Given the description of an element on the screen output the (x, y) to click on. 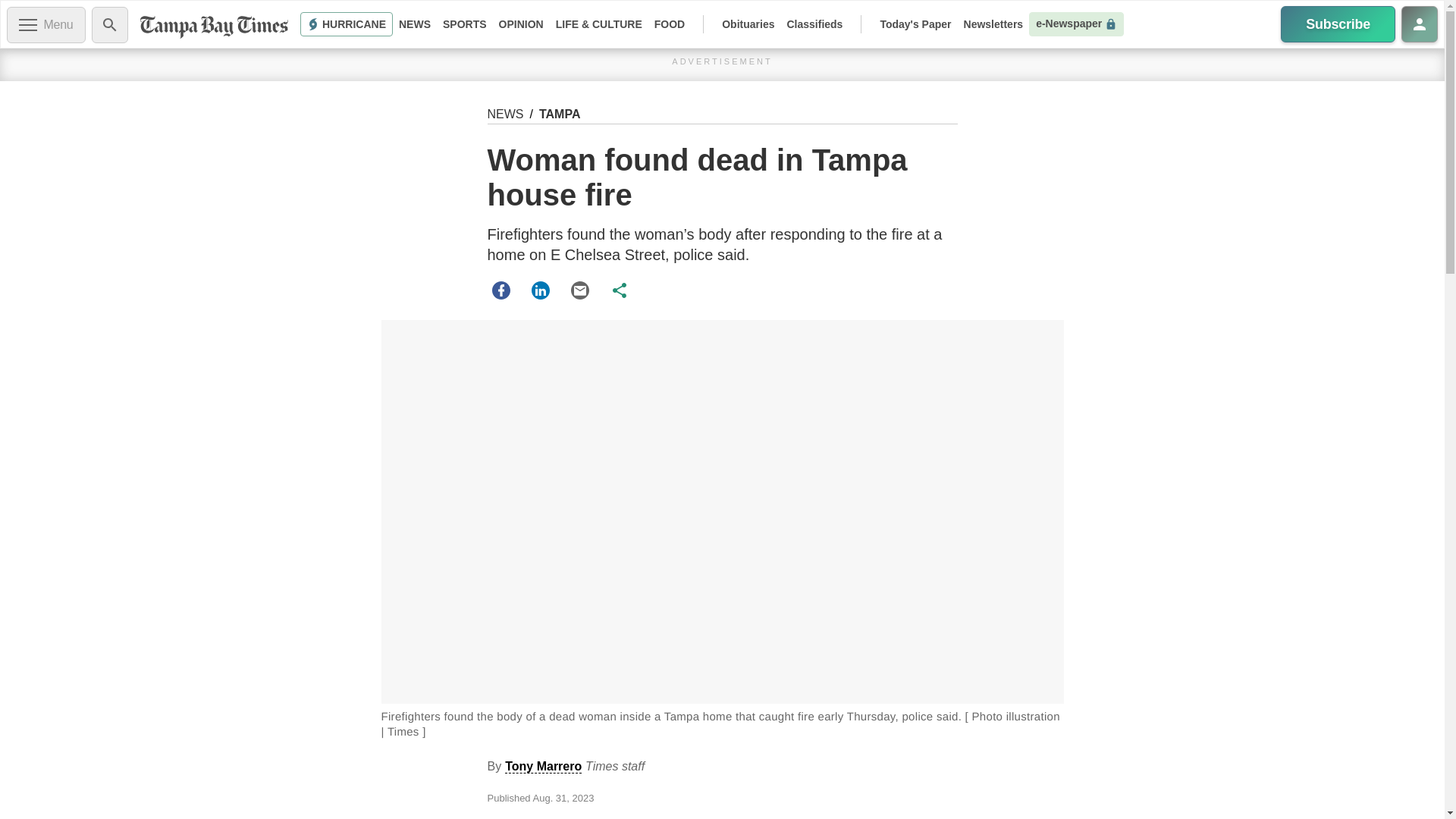
Menu (46, 24)
2023-08-31T14:21:59.429Z (563, 797)
